Given the description of an element on the screen output the (x, y) to click on. 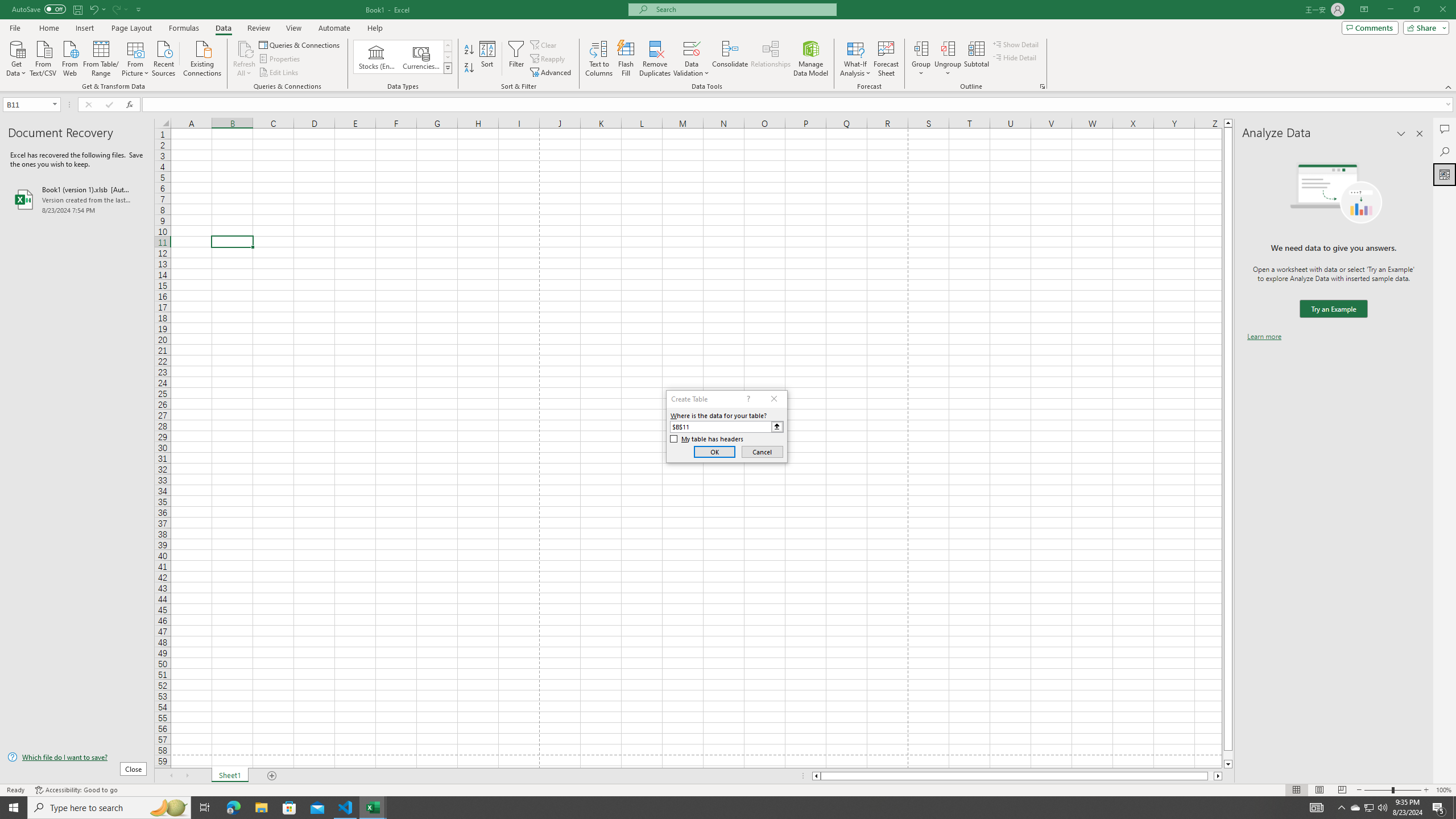
Consolidate... (729, 58)
